Given the description of an element on the screen output the (x, y) to click on. 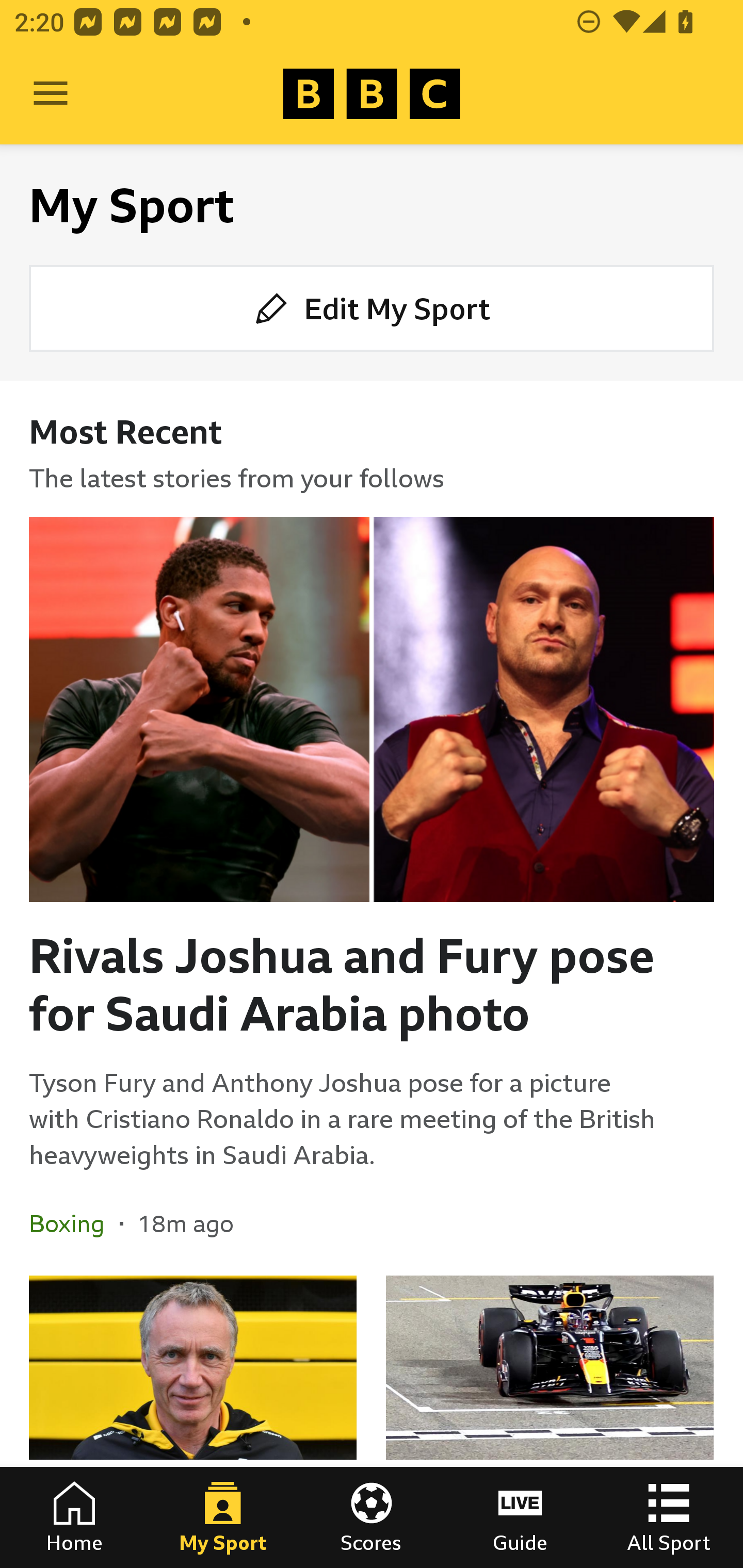
Open Menu (50, 93)
Edit My Sport (371, 307)
Engineer Bell leaves struggling Alpine (192, 1421)
Home (74, 1517)
Scores (371, 1517)
Guide (519, 1517)
All Sport (668, 1517)
